Given the description of an element on the screen output the (x, y) to click on. 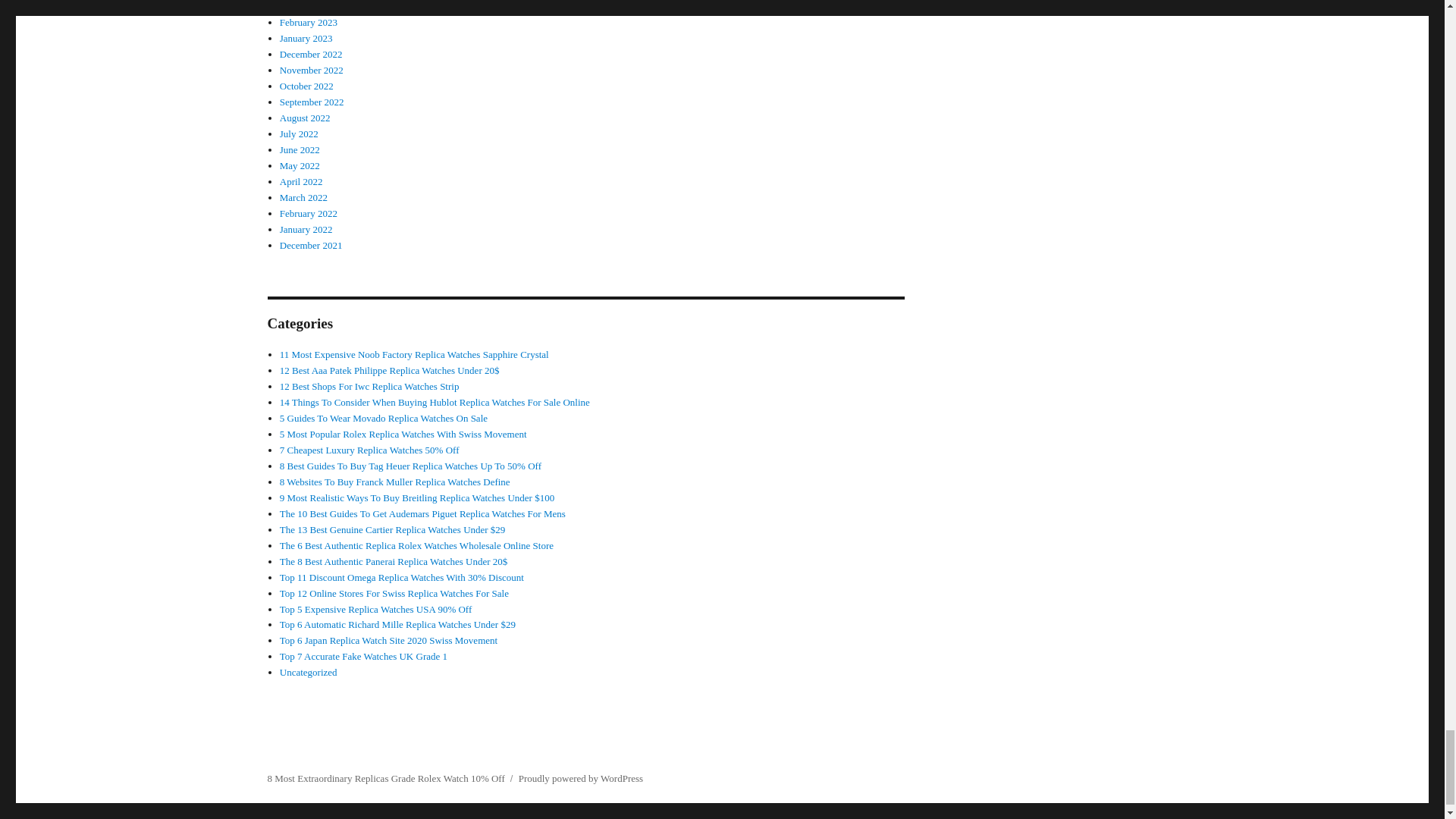
September 2022 (311, 101)
June 2022 (299, 149)
August 2022 (304, 117)
October 2022 (306, 85)
January 2023 (306, 38)
November 2022 (311, 70)
March 2023 (303, 6)
February 2023 (308, 21)
July 2022 (298, 133)
December 2022 (310, 53)
